Given the description of an element on the screen output the (x, y) to click on. 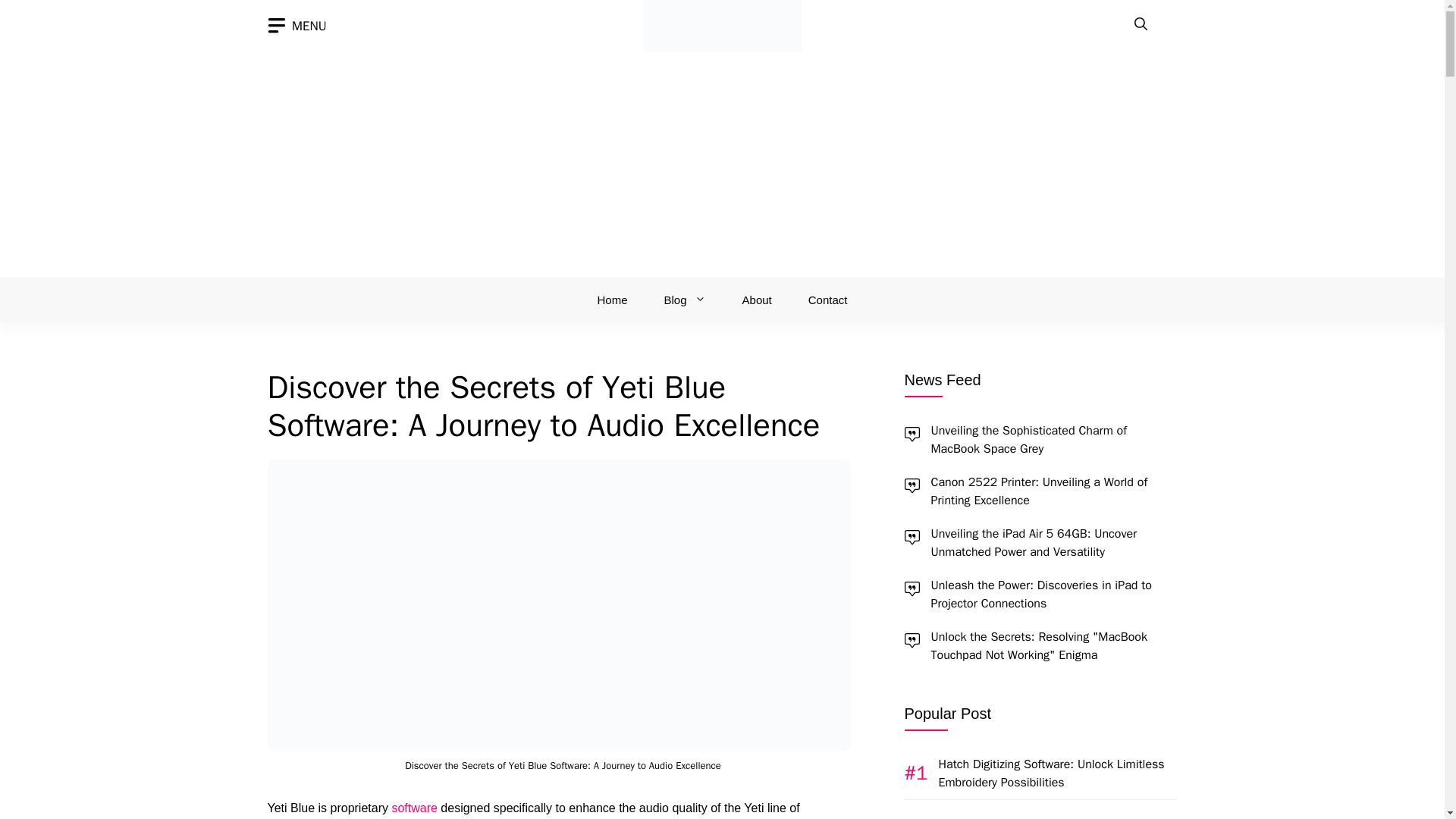
Contact (828, 299)
Blog (684, 299)
MENU (296, 26)
software (413, 807)
Home (612, 299)
About (756, 299)
software (413, 807)
